Given the description of an element on the screen output the (x, y) to click on. 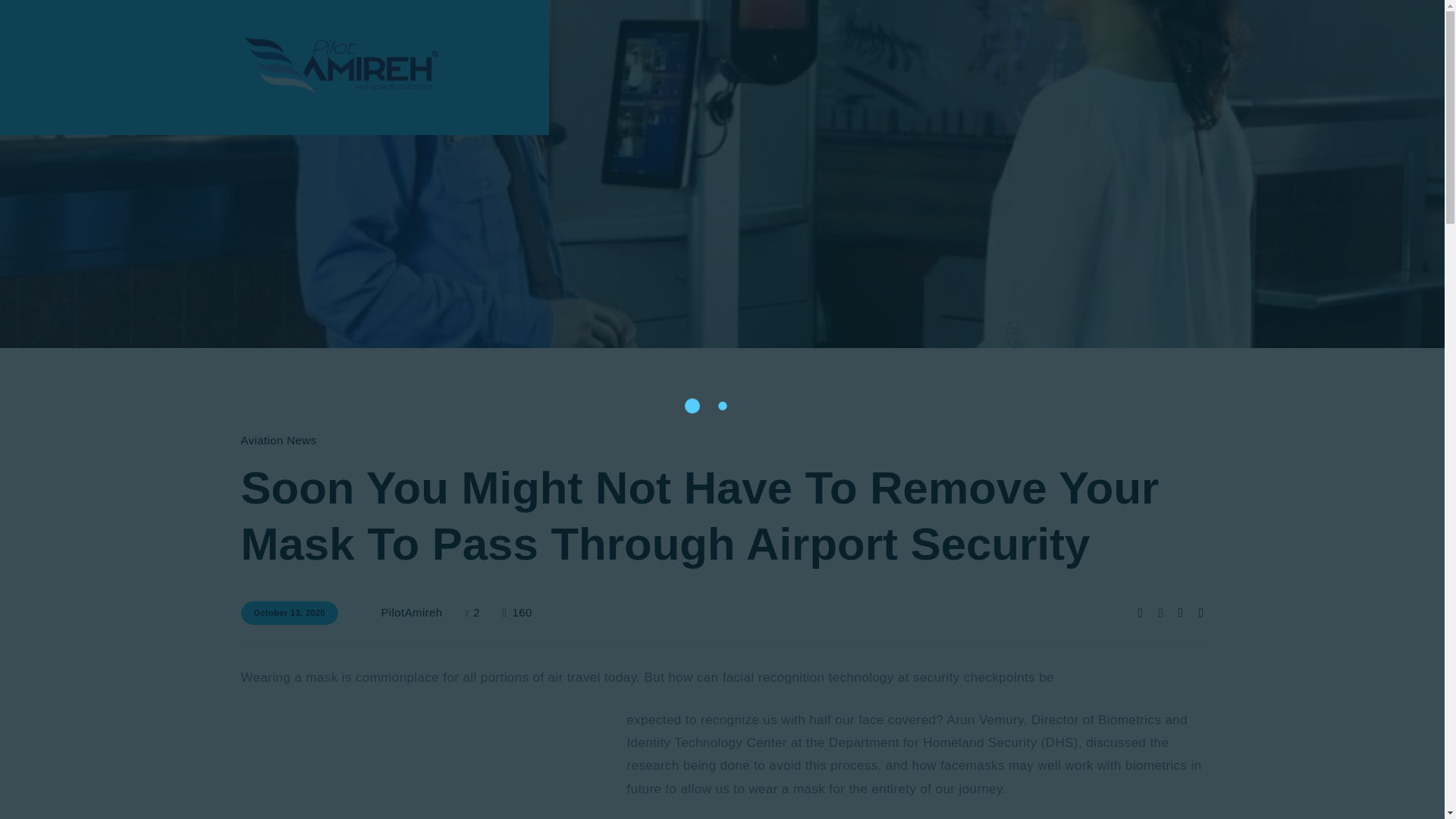
PilotAmireh (410, 612)
160 (517, 613)
2 (484, 613)
Aviation News (279, 440)
